Given the description of an element on the screen output the (x, y) to click on. 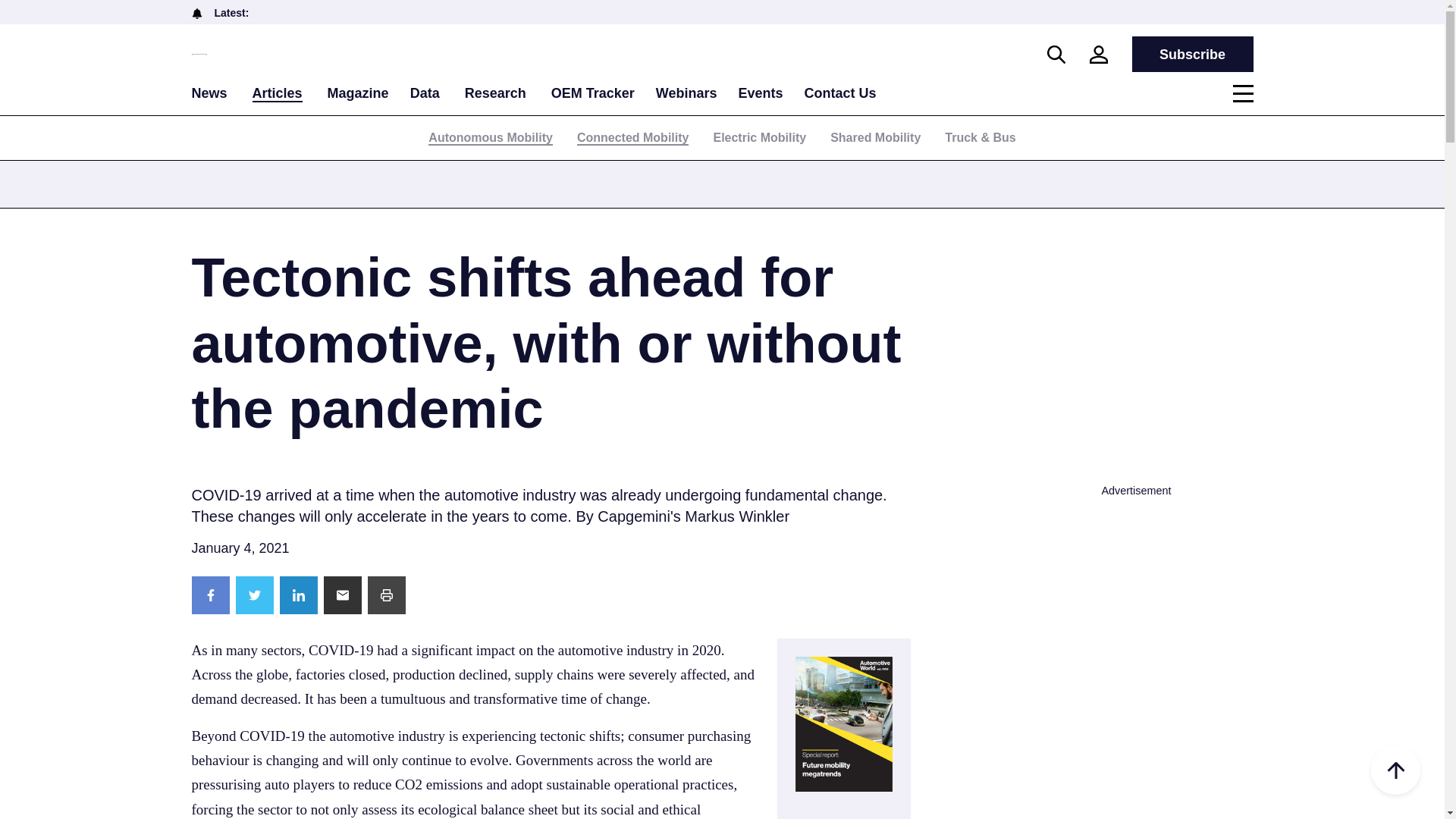
Shared Mobility (874, 137)
Log In (781, 304)
Login (1097, 54)
News (208, 92)
Electric Mobility (759, 137)
Subscribe (1191, 54)
Subscribe (1191, 54)
Magazine (357, 92)
Connected Mobility (632, 138)
Autonomous Mobility (490, 138)
